Given the description of an element on the screen output the (x, y) to click on. 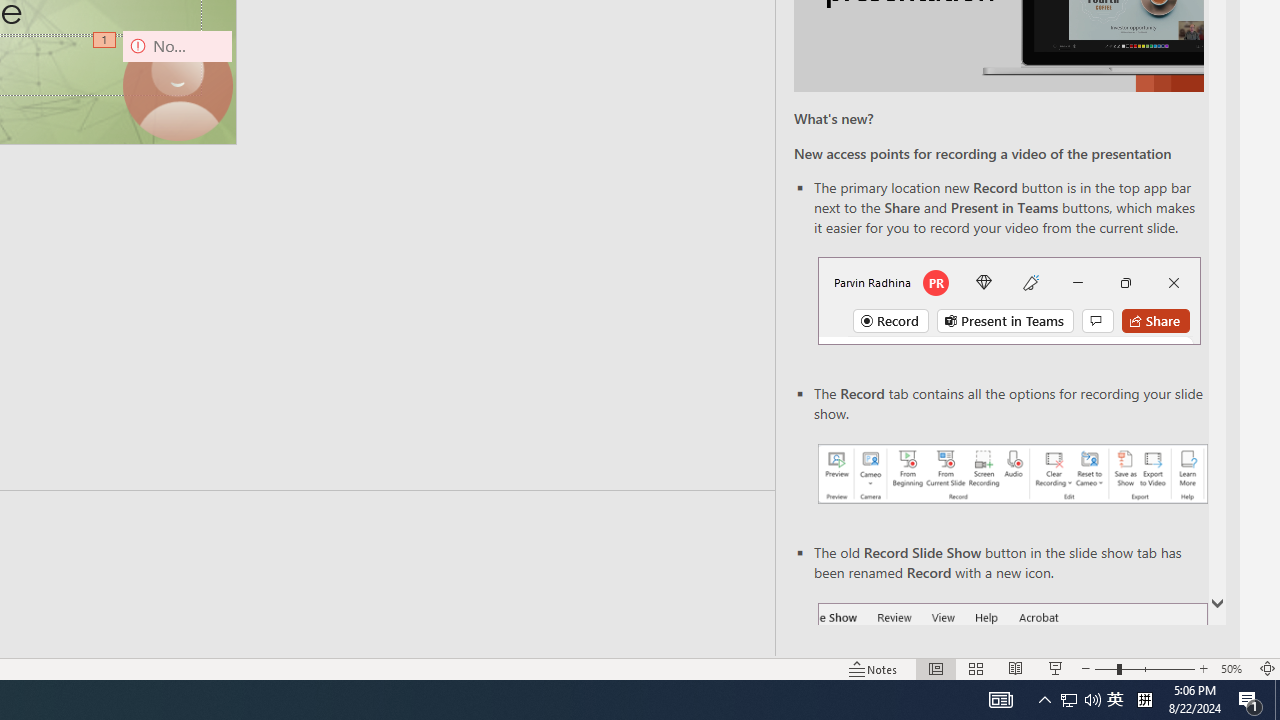
Zoom 50% (1234, 668)
Record your presentations screenshot one (1012, 473)
Animation, sequence 1, on Camera 9 (106, 41)
Record button in top bar (1008, 300)
